Given the description of an element on the screen output the (x, y) to click on. 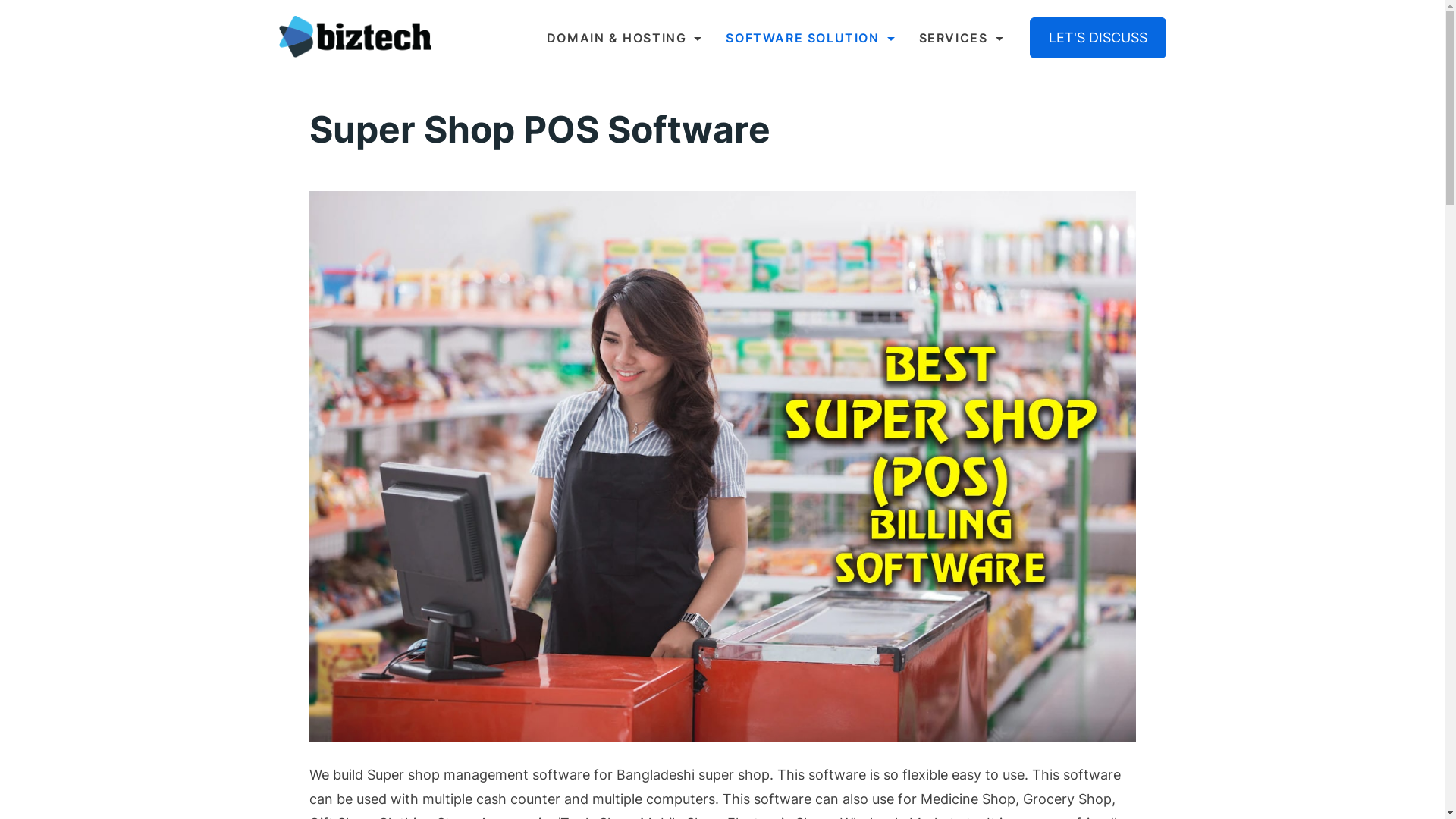
SERVICES Element type: text (954, 37)
SOFTWARE SOLUTION Element type: text (809, 37)
DOMAIN & HOSTING Element type: text (630, 37)
LET'S DISCUSS Element type: text (1097, 37)
